Given the description of an element on the screen output the (x, y) to click on. 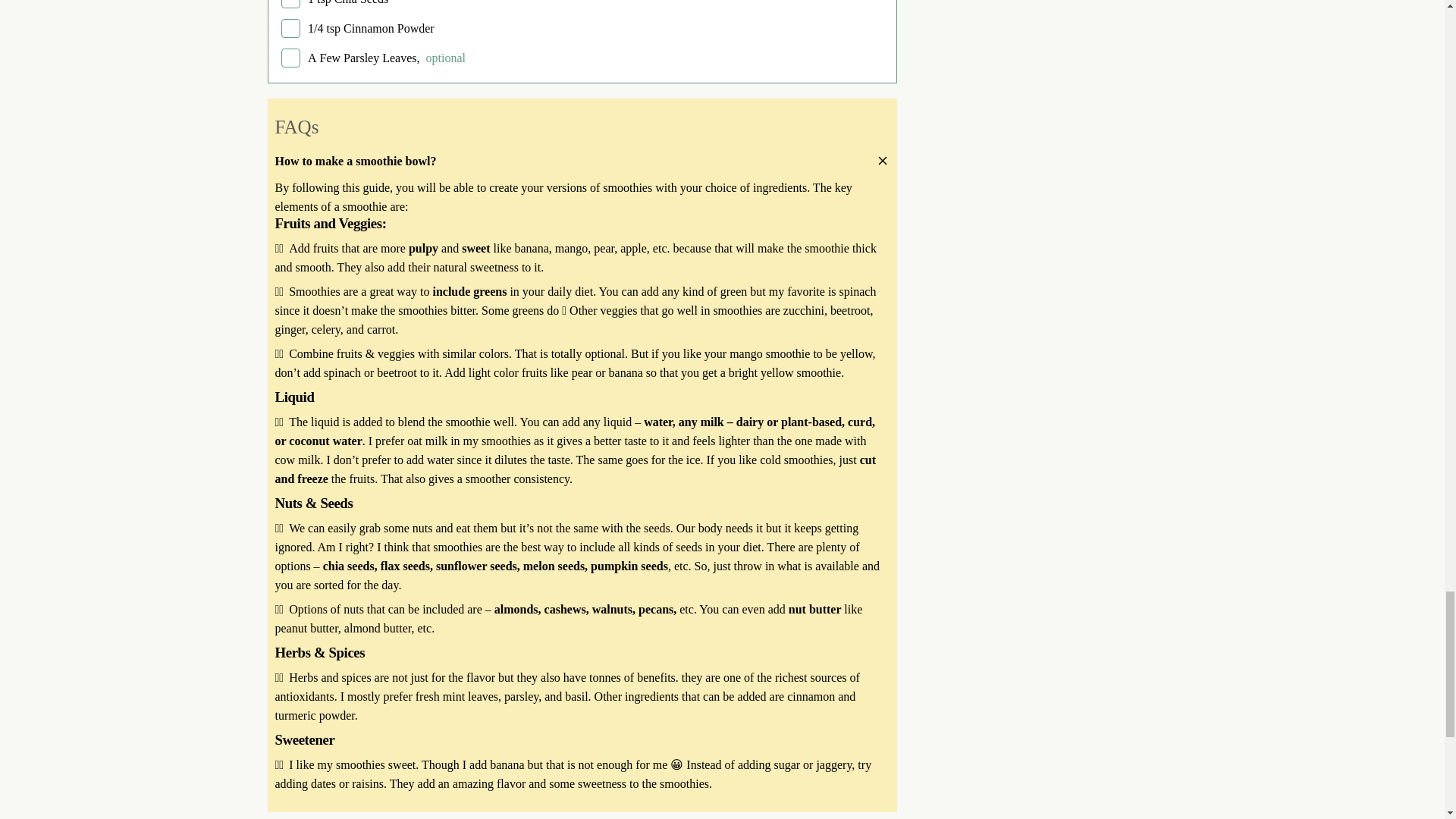
on (290, 4)
on (290, 57)
on (290, 27)
